Given the description of an element on the screen output the (x, y) to click on. 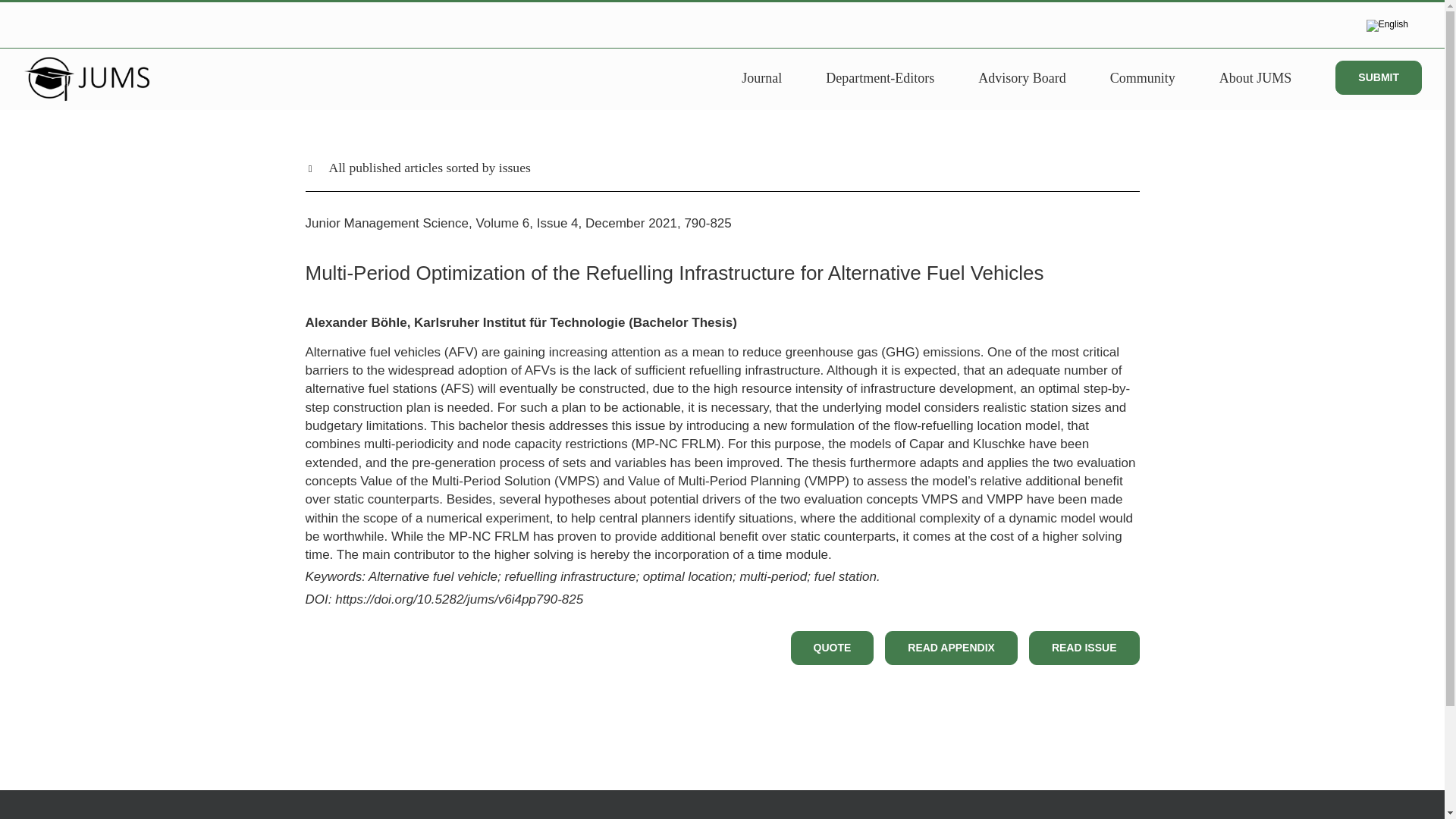
All published articles sorted by issues (721, 167)
Journal (761, 76)
About JUMS (1256, 76)
Department-Editors (879, 76)
Advisory Board (1021, 76)
All published articles sorted by issues (721, 182)
Community (1141, 76)
SUBMIT (1378, 76)
